Given the description of an element on the screen output the (x, y) to click on. 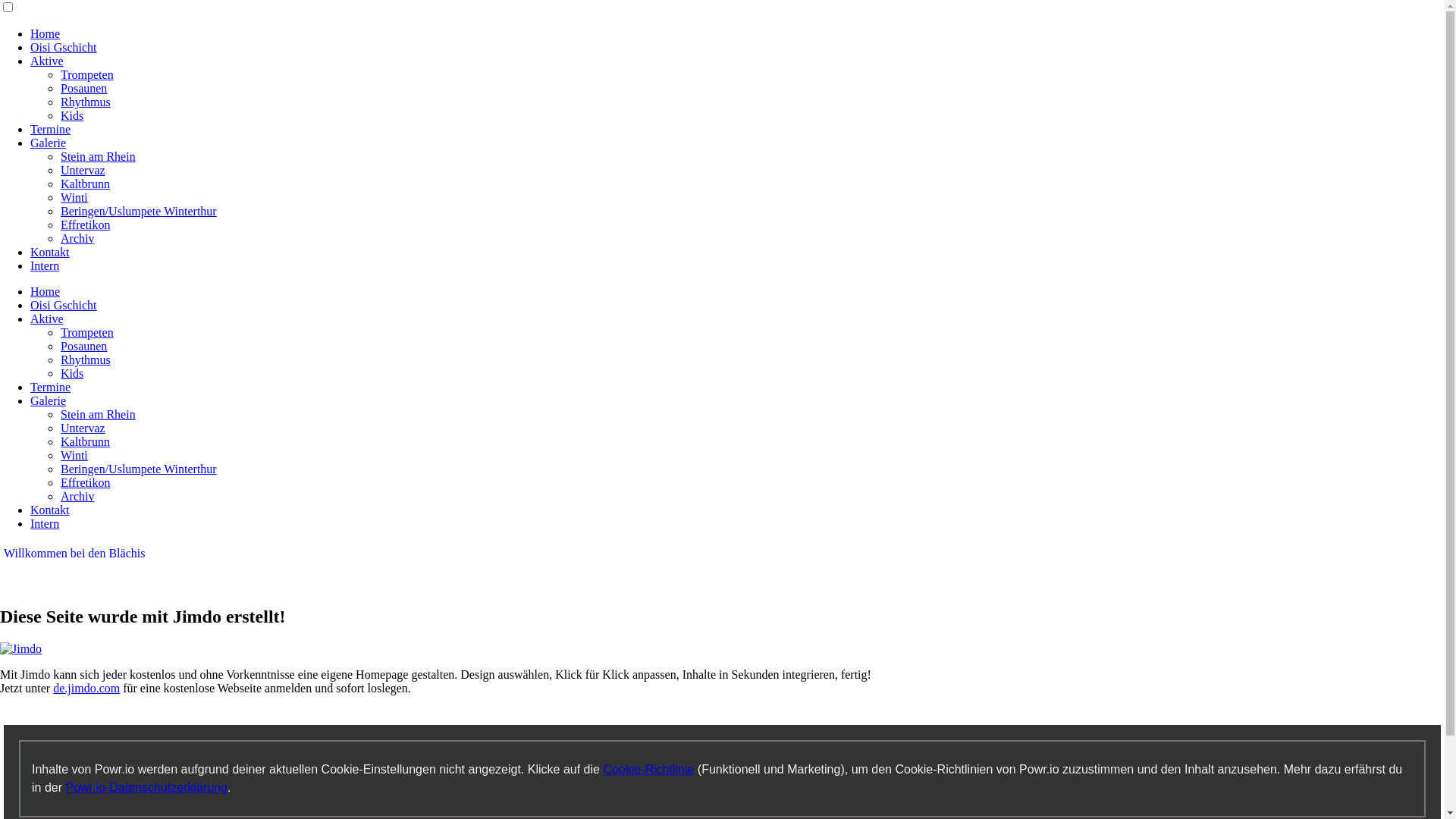
Kaltbrunn Element type: text (84, 441)
Rhythmus Element type: text (85, 101)
Home Element type: text (44, 33)
Cookie-Richtlinie Element type: text (647, 768)
Archiv Element type: text (77, 238)
Posaunen Element type: text (83, 345)
Rhythmus Element type: text (85, 359)
Stein am Rhein Element type: text (97, 156)
Intern Element type: text (44, 523)
Jimdo Element type: hover (20, 648)
Archiv Element type: text (77, 495)
Effretikon Element type: text (84, 224)
Termine Element type: text (50, 386)
Termine Element type: text (50, 128)
Galerie Element type: text (47, 142)
Galerie Element type: text (47, 400)
Untervaz Element type: text (82, 169)
Kontakt Element type: text (49, 251)
Untervaz Element type: text (82, 427)
Stein am Rhein Element type: text (97, 413)
Aktive Element type: text (46, 60)
Home Element type: text (44, 291)
Kaltbrunn Element type: text (84, 183)
Beringen/Uslumpete Winterthur Element type: text (138, 468)
Kontakt Element type: text (49, 509)
Winti Element type: text (73, 454)
Kids Element type: text (71, 115)
Posaunen Element type: text (83, 87)
de.jimdo.com Element type: text (86, 687)
Oisi Gschicht Element type: text (63, 304)
Aktive Element type: text (46, 318)
Trompeten Element type: text (86, 74)
Trompeten Element type: text (86, 332)
Beringen/Uslumpete Winterthur Element type: text (138, 210)
Oisi Gschicht Element type: text (63, 46)
Intern Element type: text (44, 265)
Effretikon Element type: text (84, 482)
Kids Element type: text (71, 373)
Winti Element type: text (73, 197)
